Given the description of an element on the screen output the (x, y) to click on. 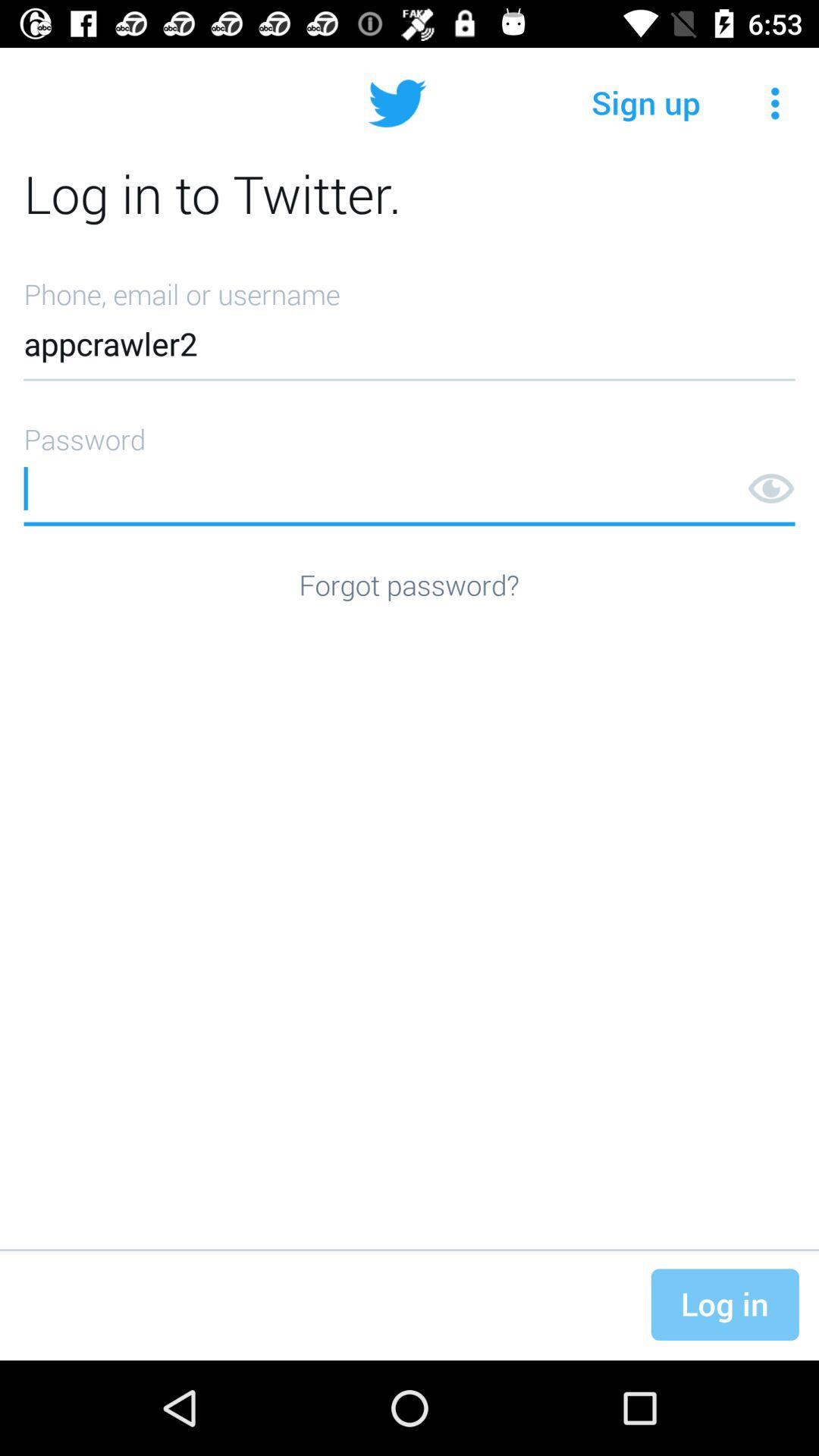
turn on the icon above the log in to item (645, 103)
